Given the description of an element on the screen output the (x, y) to click on. 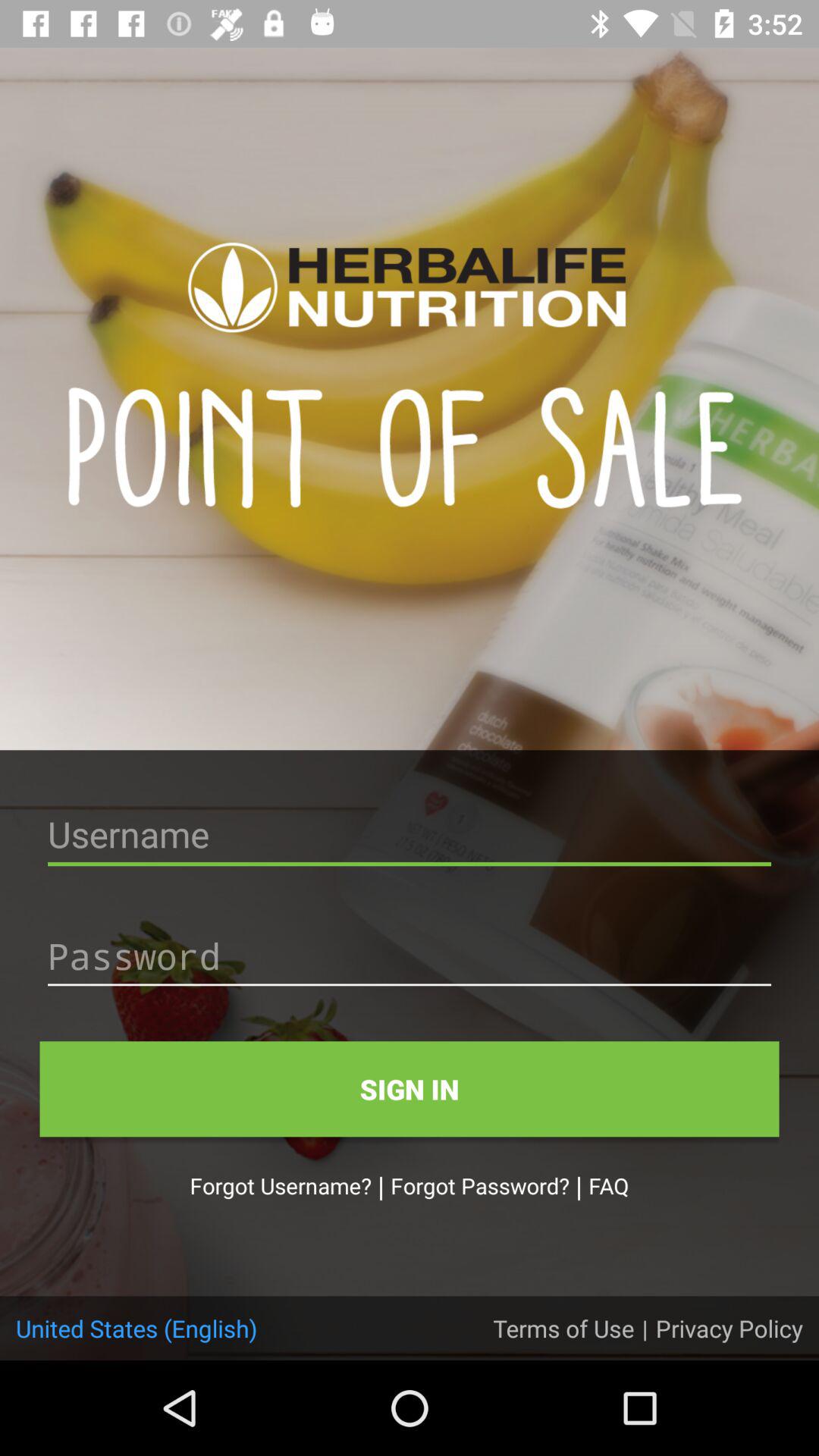
flip to the sign in (409, 1088)
